Given the description of an element on the screen output the (x, y) to click on. 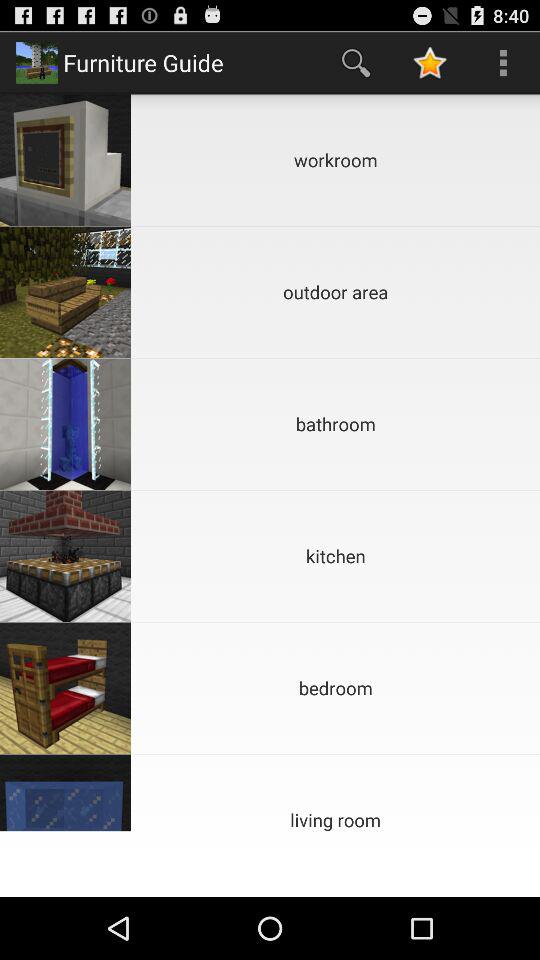
click icon to the right of the furniture guide icon (356, 62)
